Given the description of an element on the screen output the (x, y) to click on. 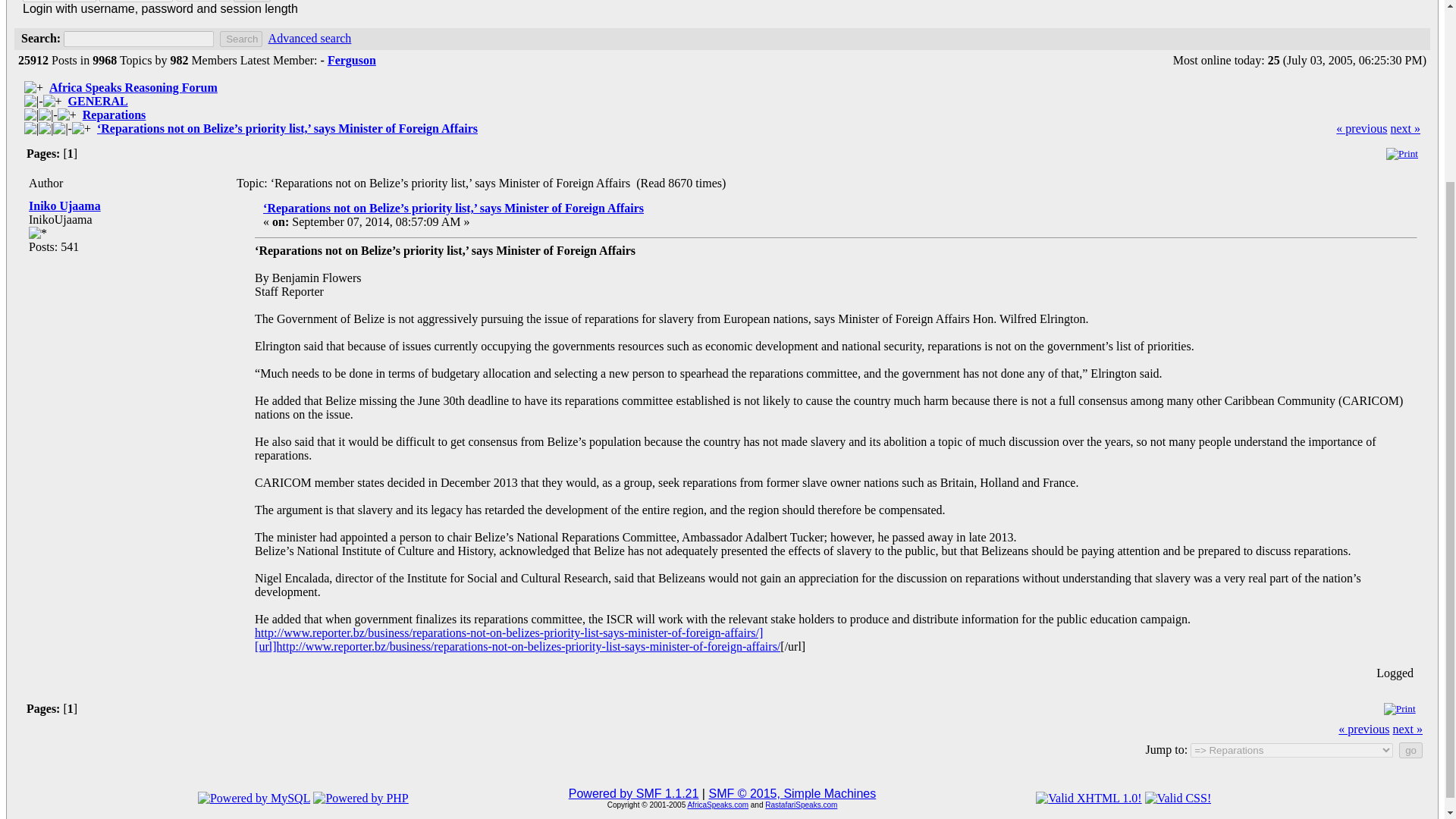
Search (240, 38)
Login (251, 1)
Africa Speaks Reasoning Forum (132, 87)
View the profile of Iniko Ujaama (64, 205)
GENERAL (98, 101)
go (1410, 750)
Ferguson (351, 60)
Search (240, 38)
Free Forum Software (791, 793)
Advanced search (309, 38)
Reparations (114, 114)
Simple Machines Forum (633, 793)
Login (251, 1)
Iniko Ujaama (64, 205)
